Given the description of an element on the screen output the (x, y) to click on. 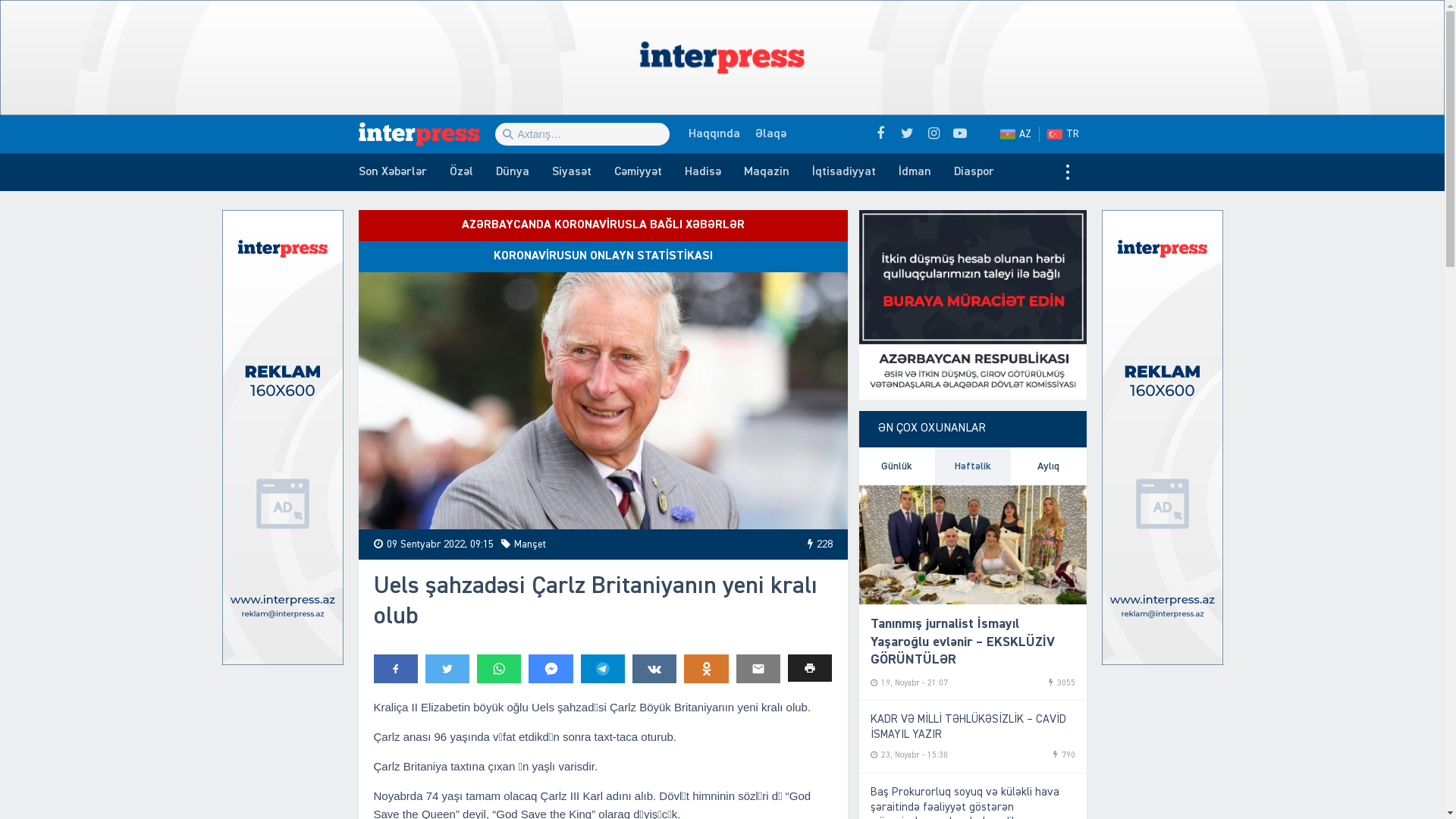
Maqazin Element type: text (766, 172)
TR Element type: text (1065, 133)
Diaspor Element type: text (972, 172)
AZ Element type: text (1014, 133)
KORONAVIRUSUN ONLAYN STATISTIKASI Element type: text (602, 256)
www.human.gov.az Element type: hover (971, 304)
!Reklam Element type: hover (1161, 437)
!Reklam Element type: hover (722, 57)
!Reklam Element type: hover (281, 437)
